Given the description of an element on the screen output the (x, y) to click on. 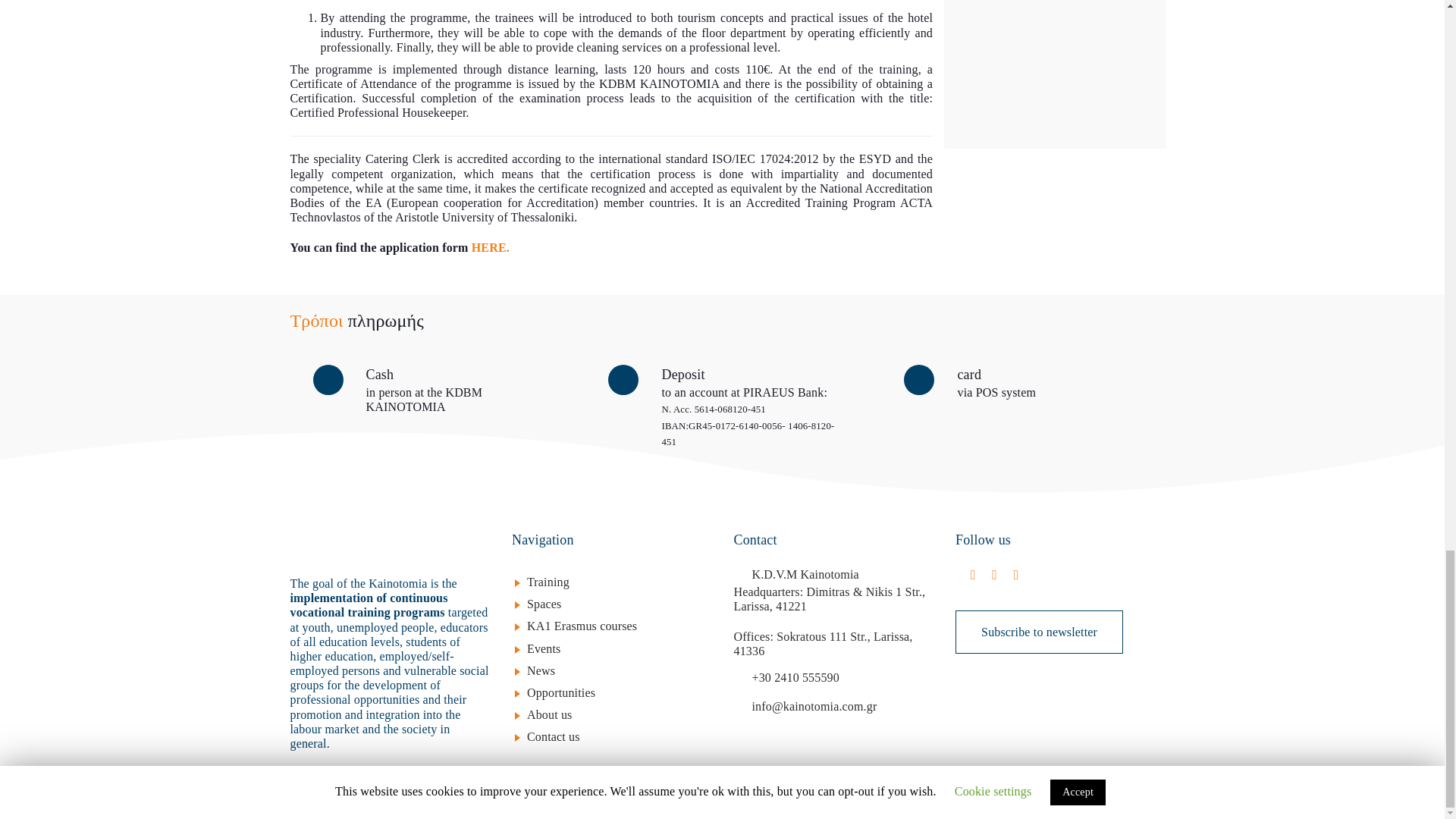
Spaces (619, 603)
Training (619, 581)
HERE. (488, 246)
KA1 Erasmus courses (619, 626)
Events (619, 648)
